Given the description of an element on the screen output the (x, y) to click on. 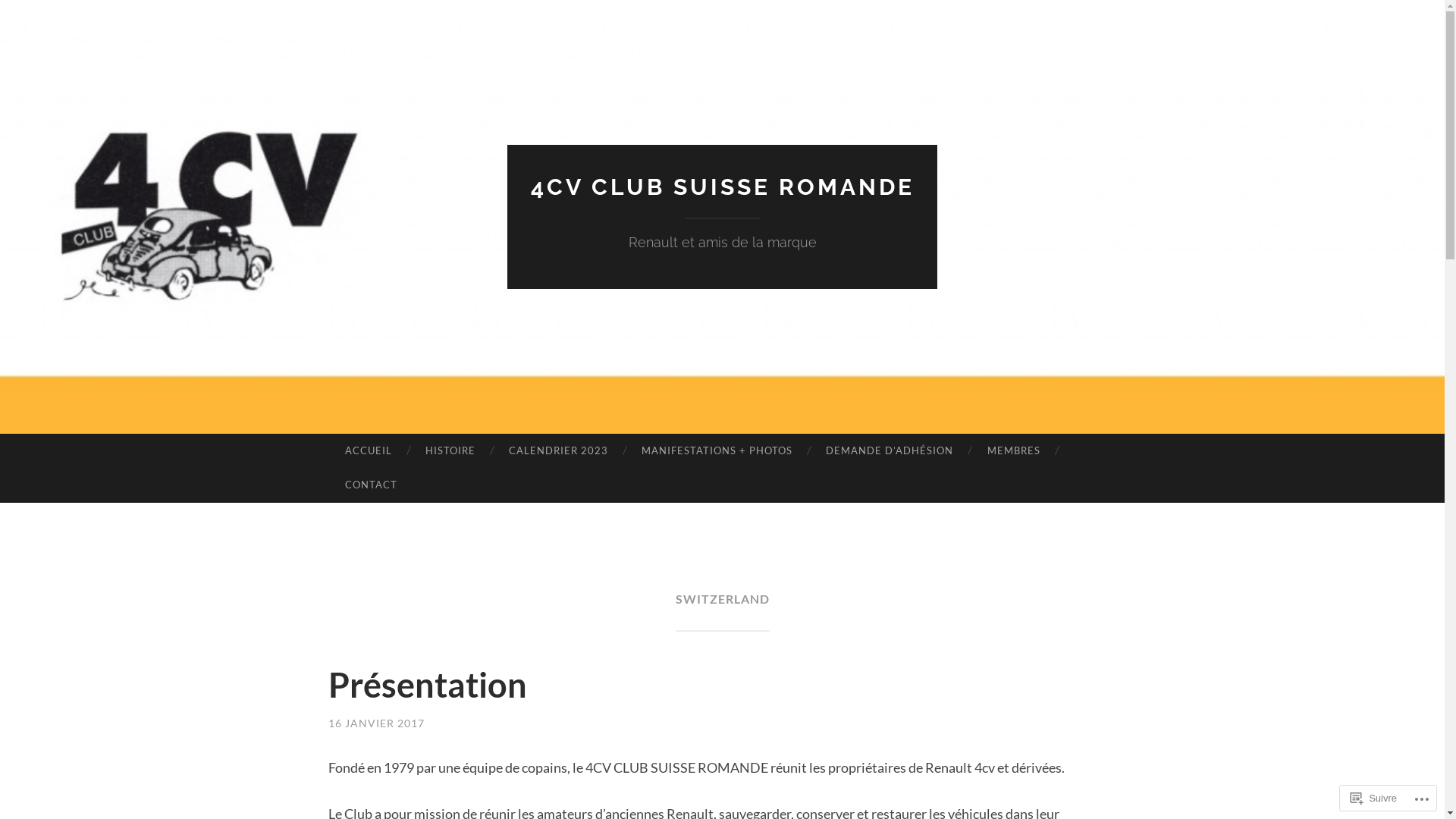
MEMBRES Element type: text (1012, 450)
MANIFESTATIONS + PHOTOS Element type: text (716, 450)
HISTOIRE Element type: text (450, 450)
16 JANVIER 2017 Element type: text (375, 722)
Suivre Element type: text (1373, 797)
ACCUEIL Element type: text (367, 450)
CALENDRIER 2023 Element type: text (558, 450)
CONTACT Element type: text (370, 484)
4CV CLUB SUISSE ROMANDE Element type: text (722, 186)
